Given the description of an element on the screen output the (x, y) to click on. 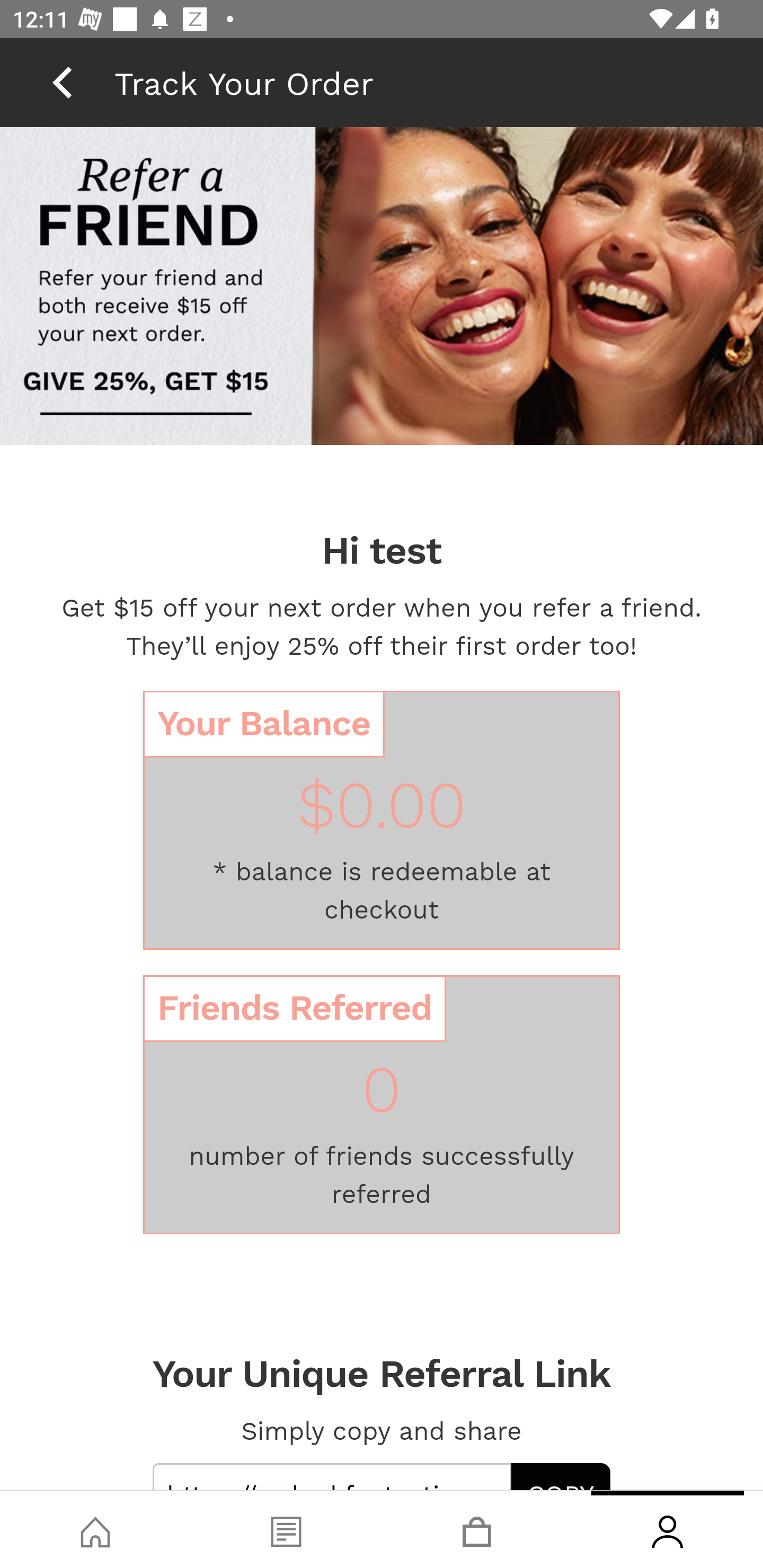
back (61, 82)
raf (381, 288)
raf (381, 415)
Shop, tab, 1 of 4 (95, 1529)
Blog, tab, 2 of 4 (285, 1529)
Basket, tab, 3 of 4 (476, 1529)
Account, tab, 4 of 4 (667, 1529)
